Given the description of an element on the screen output the (x, y) to click on. 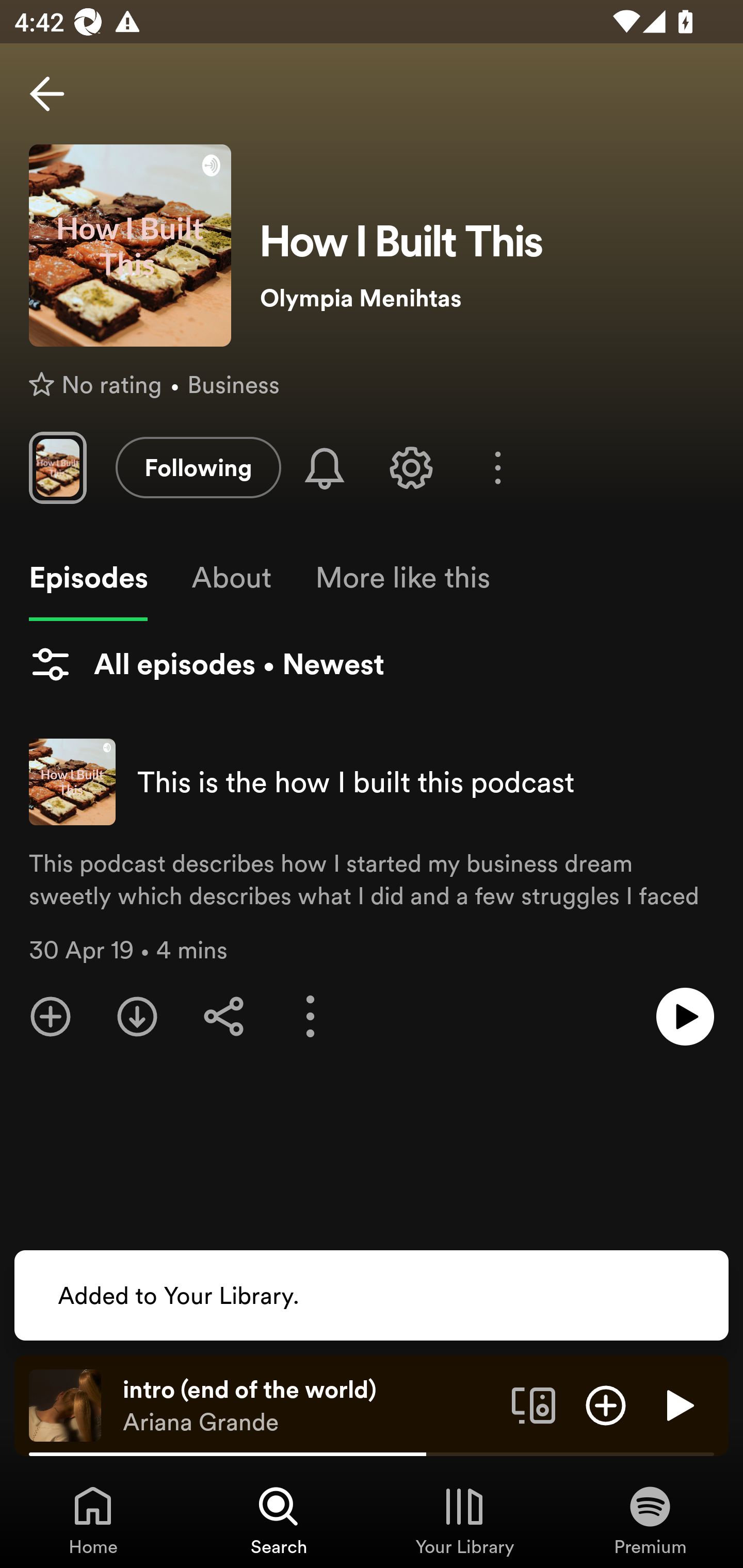
Back (46, 93)
Olympia Menihtas (487, 297)
Following Unfollow this show (197, 466)
Settings for this Show. (410, 467)
More options for show How I Built This  (497, 467)
About (231, 577)
More like this (402, 577)
All episodes • Newest (206, 663)
Share (223, 1016)
Play episode: This is the how I built this podcast (684, 1016)
intro (end of the world) Ariana Grande (309, 1405)
The cover art of the currently playing track (64, 1404)
Connect to a device. Opens the devices menu (533, 1404)
Add item (605, 1404)
Play (677, 1404)
Home, Tab 1 of 4 Home Home (92, 1519)
Search, Tab 2 of 4 Search Search (278, 1519)
Your Library, Tab 3 of 4 Your Library Your Library (464, 1519)
Premium, Tab 4 of 4 Premium Premium (650, 1519)
